Given the description of an element on the screen output the (x, y) to click on. 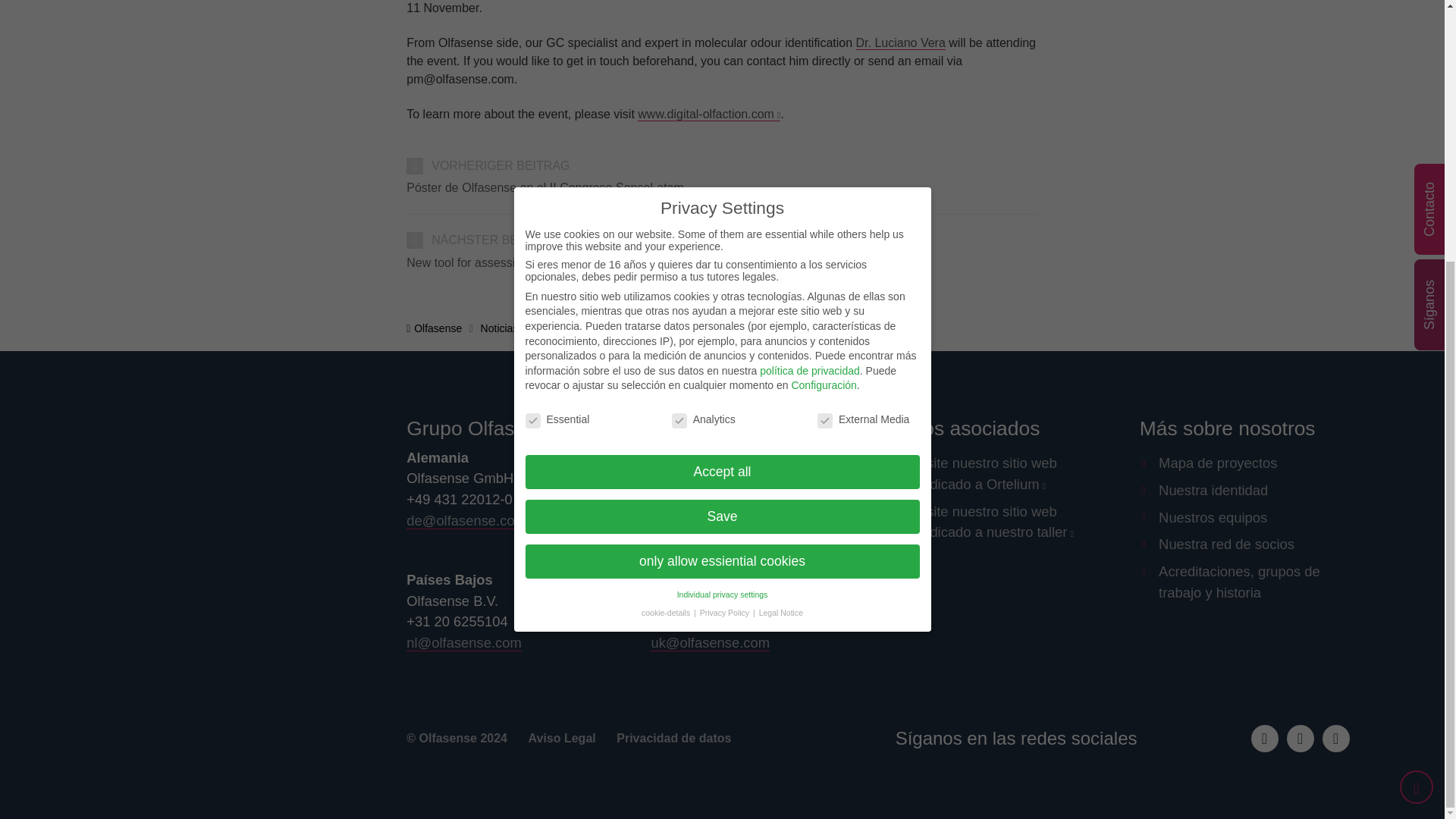
New tool for assessing fugitive odour emissions (722, 262)
Go to Olfasense. (433, 328)
